Given the description of an element on the screen output the (x, y) to click on. 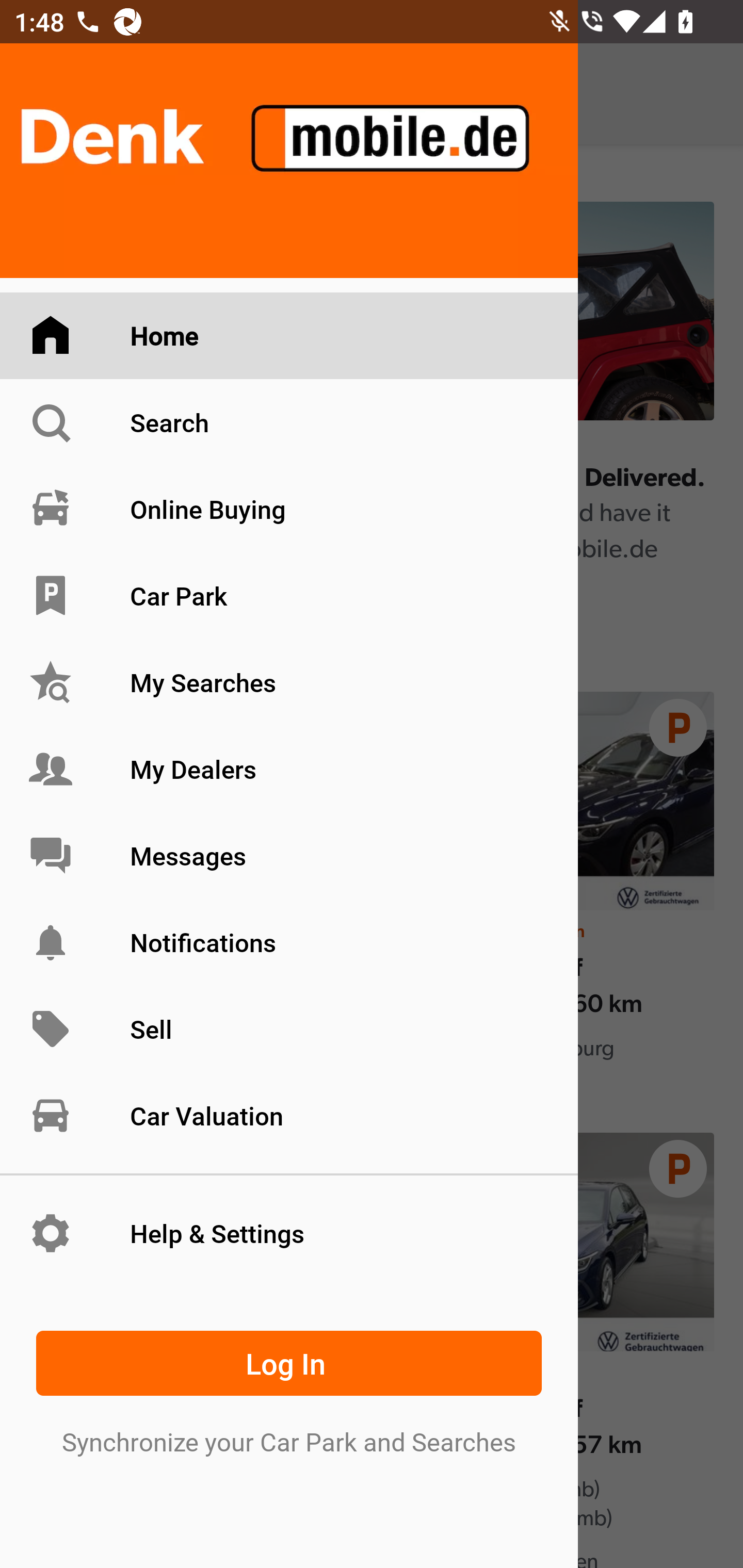
Home (289, 336)
Search (289, 422)
Online Buying (289, 508)
Car Park (289, 595)
My Searches (289, 682)
My Dealers (289, 768)
Messages (289, 855)
Notifications (289, 942)
Sell (289, 1029)
Car Valuation (289, 1115)
Help & Settings (289, 1233)
Log In Synchronize your Car Park and Searches (289, 1388)
Log In (288, 1363)
